Given the description of an element on the screen output the (x, y) to click on. 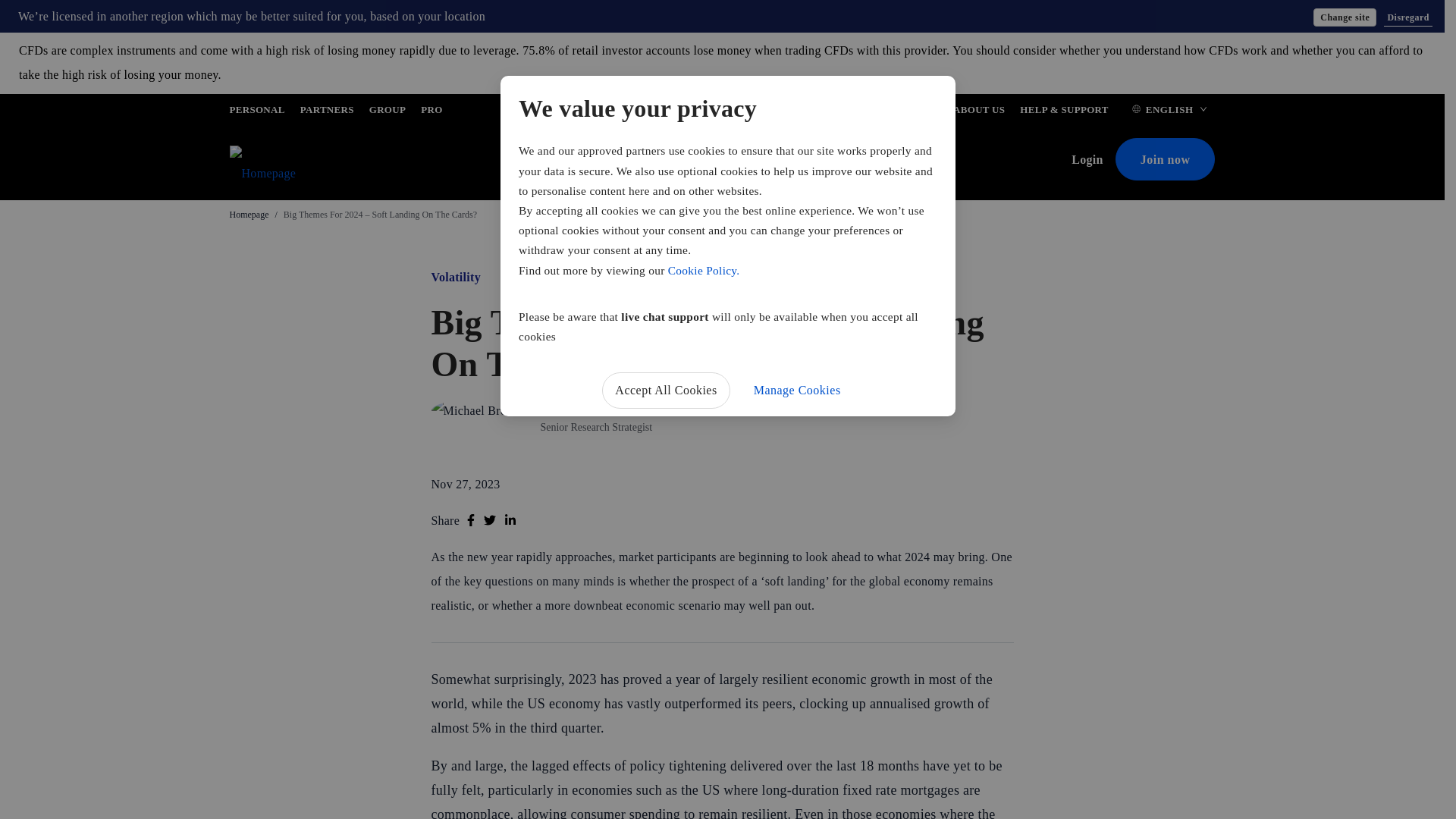
Michael Brown (579, 408)
Pricing (566, 160)
Markets (624, 160)
ABOUT US (978, 112)
Homepage (247, 214)
ABOUT US (978, 112)
Analysis (753, 160)
GROUP (387, 112)
Change site (1344, 17)
PRO (431, 112)
PARTNERS (326, 112)
Disregard (1408, 17)
PERSONAL (255, 112)
Analysis (753, 160)
Pricing (566, 160)
